Given the description of an element on the screen output the (x, y) to click on. 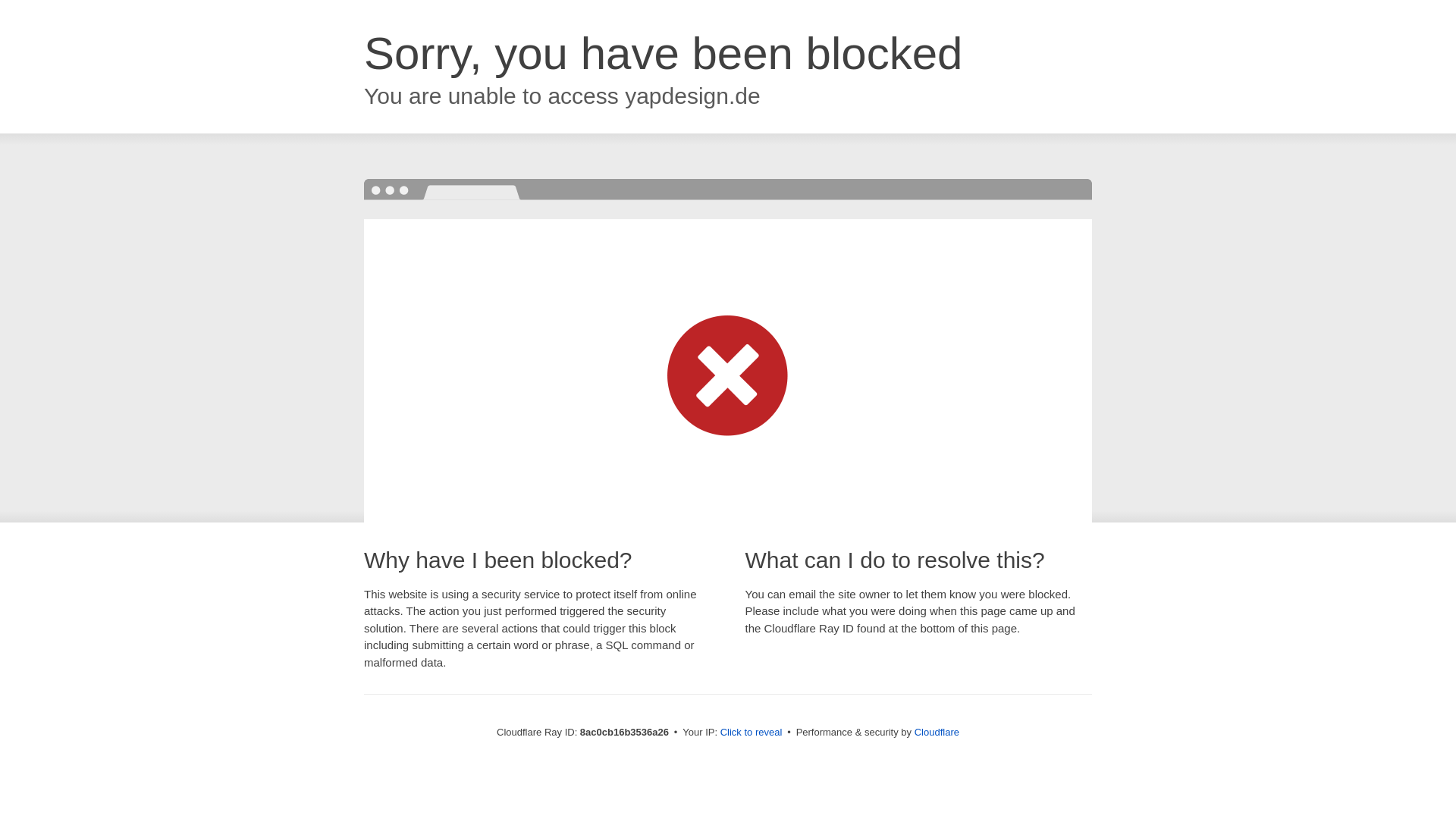
Cloudflare (936, 731)
Click to reveal (751, 732)
